Given the description of an element on the screen output the (x, y) to click on. 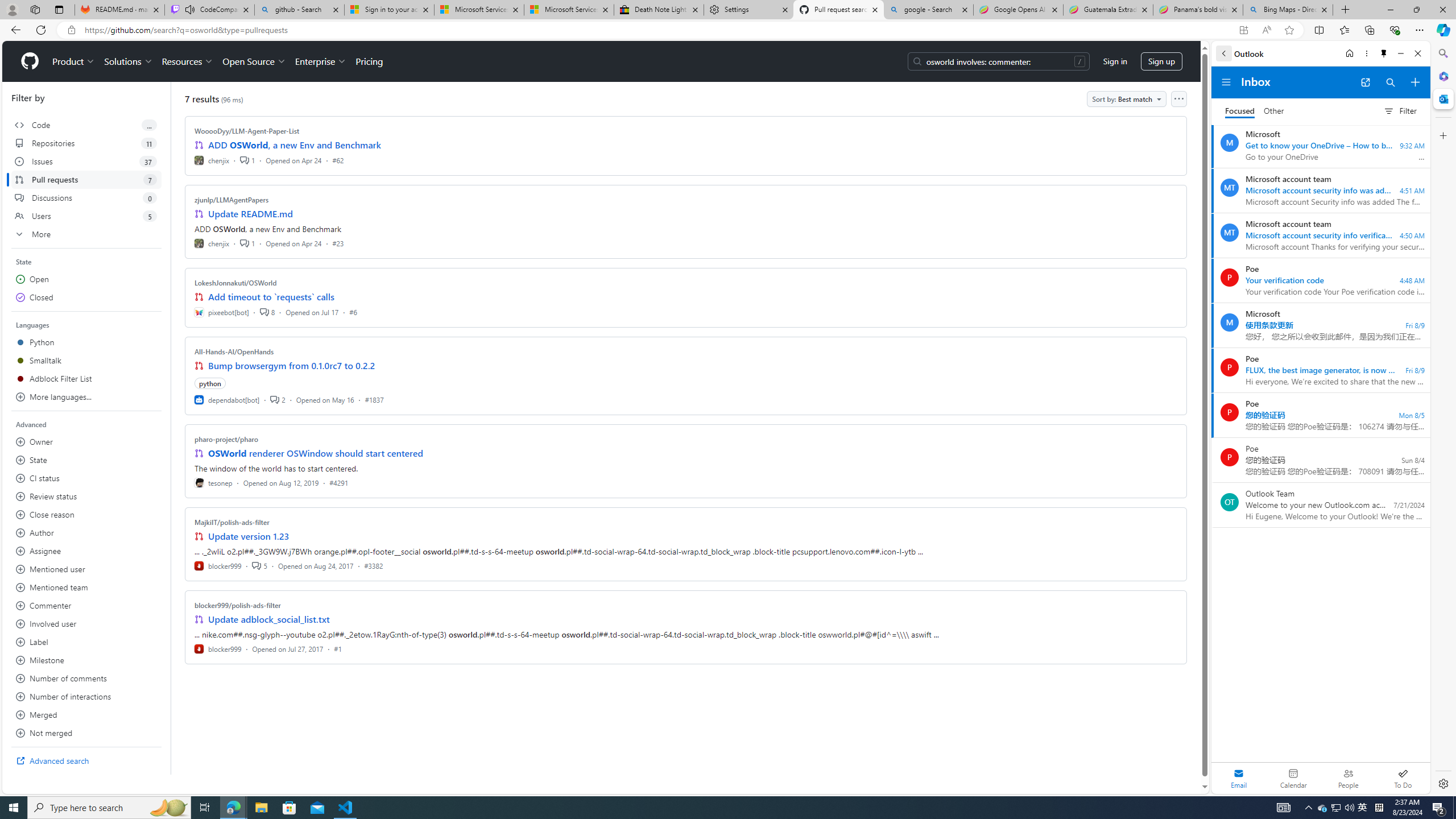
#6 (352, 311)
Solutions (128, 60)
Advanced search (86, 760)
#4291 (338, 482)
Open in new tab (1365, 82)
To Do (1402, 777)
Filter (1399, 110)
LokeshJonnakuti/OSWorld (235, 282)
2 (277, 398)
